Given the description of an element on the screen output the (x, y) to click on. 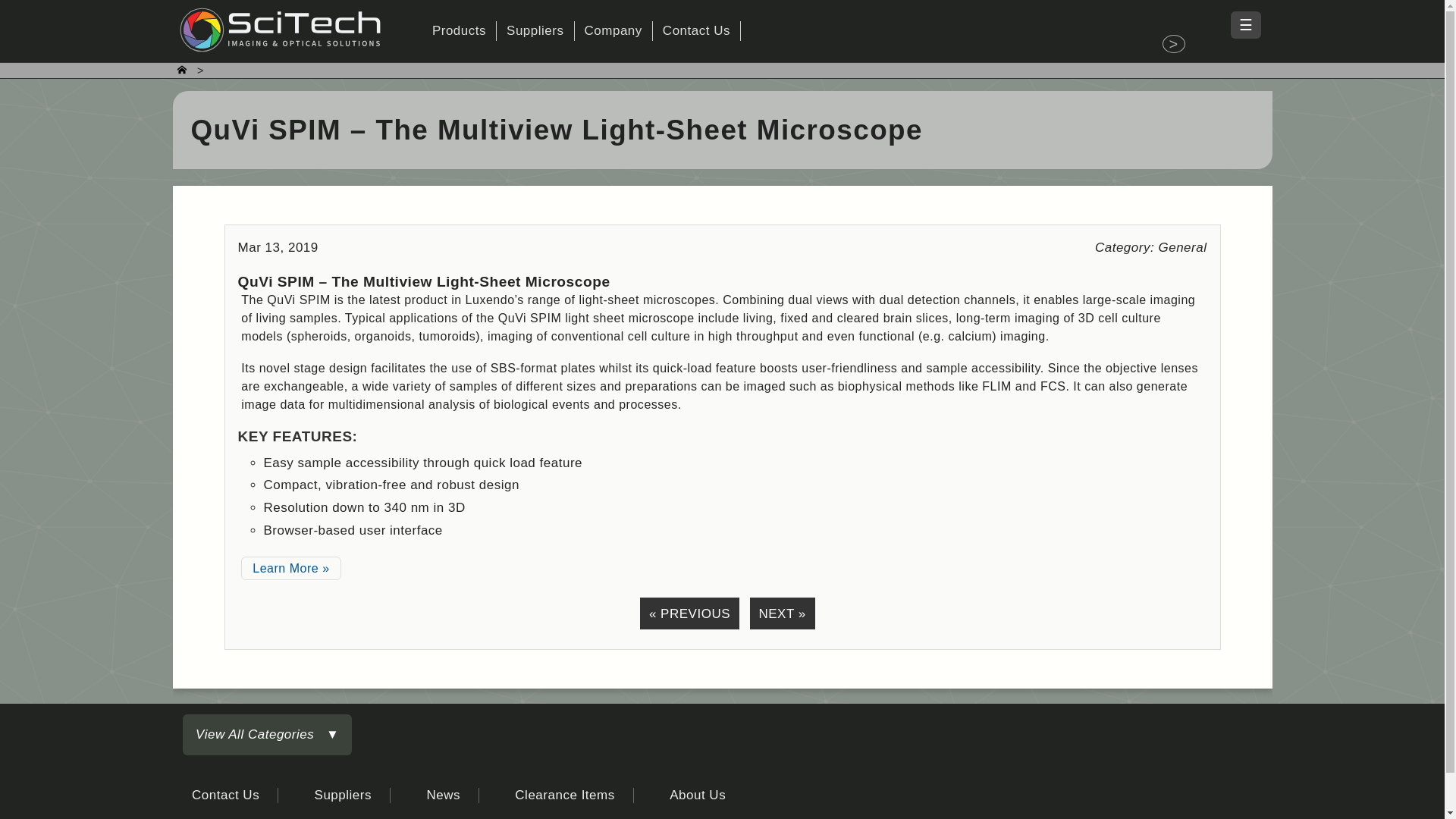
Products (459, 30)
Home (1173, 44)
